Given the description of an element on the screen output the (x, y) to click on. 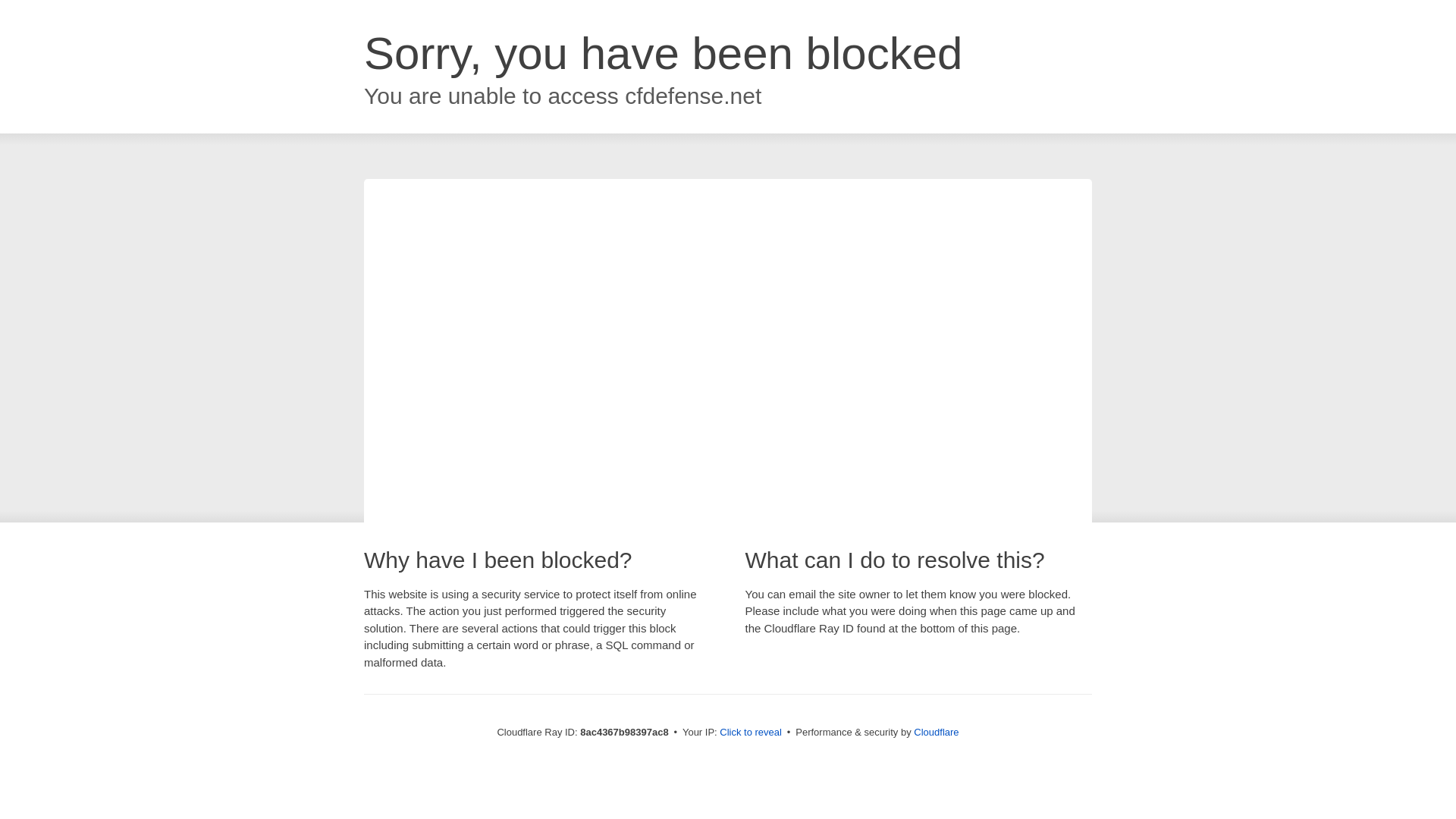
Click to reveal (750, 732)
Cloudflare (936, 731)
